Given the description of an element on the screen output the (x, y) to click on. 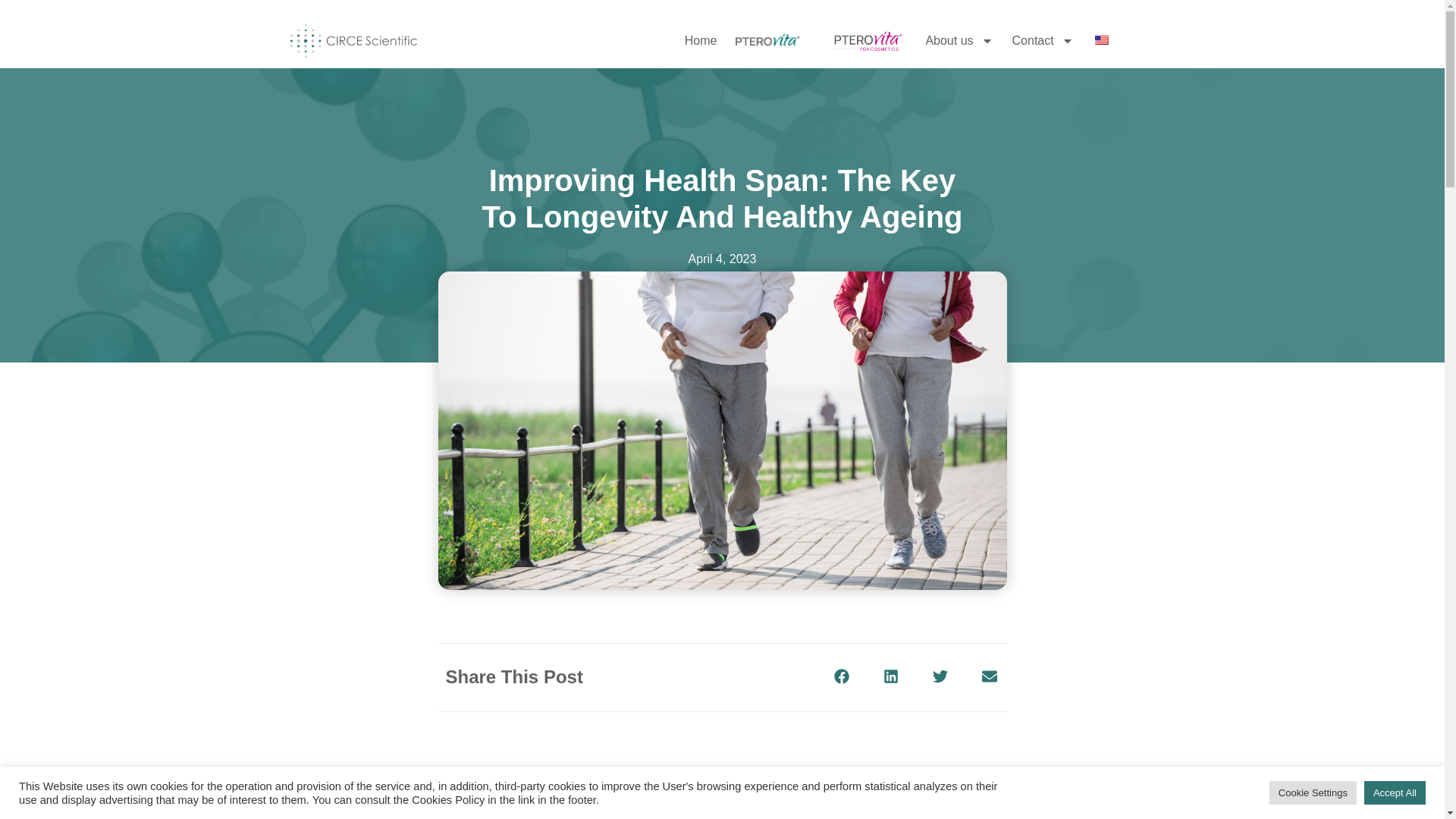
English (1101, 40)
English (1101, 39)
Contact (1042, 40)
About us (958, 40)
